Given the description of an element on the screen output the (x, y) to click on. 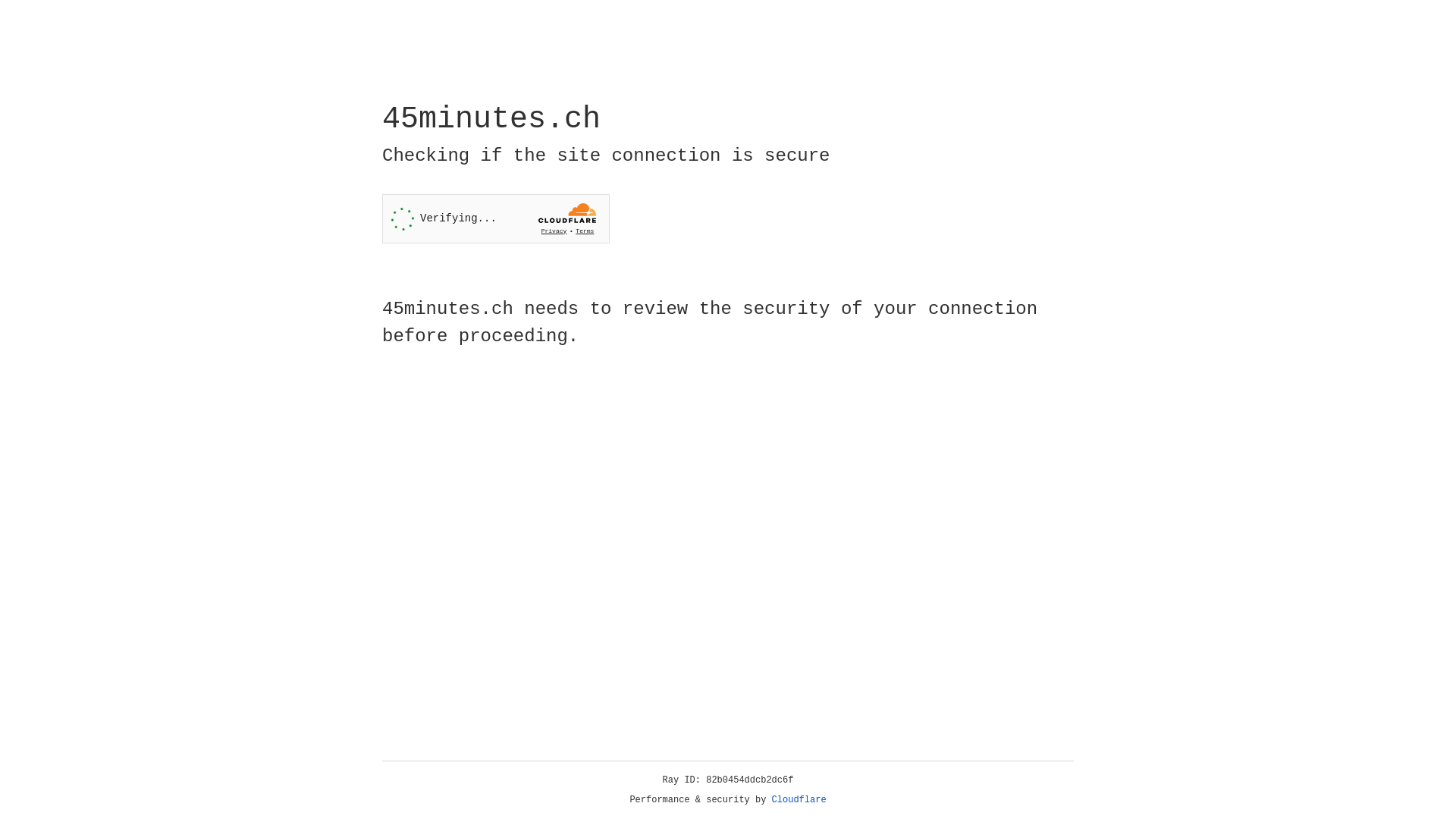
Cloudflare Element type: text (798, 799)
Widget containing a Cloudflare security challenge Element type: hover (495, 218)
